Given the description of an element on the screen output the (x, y) to click on. 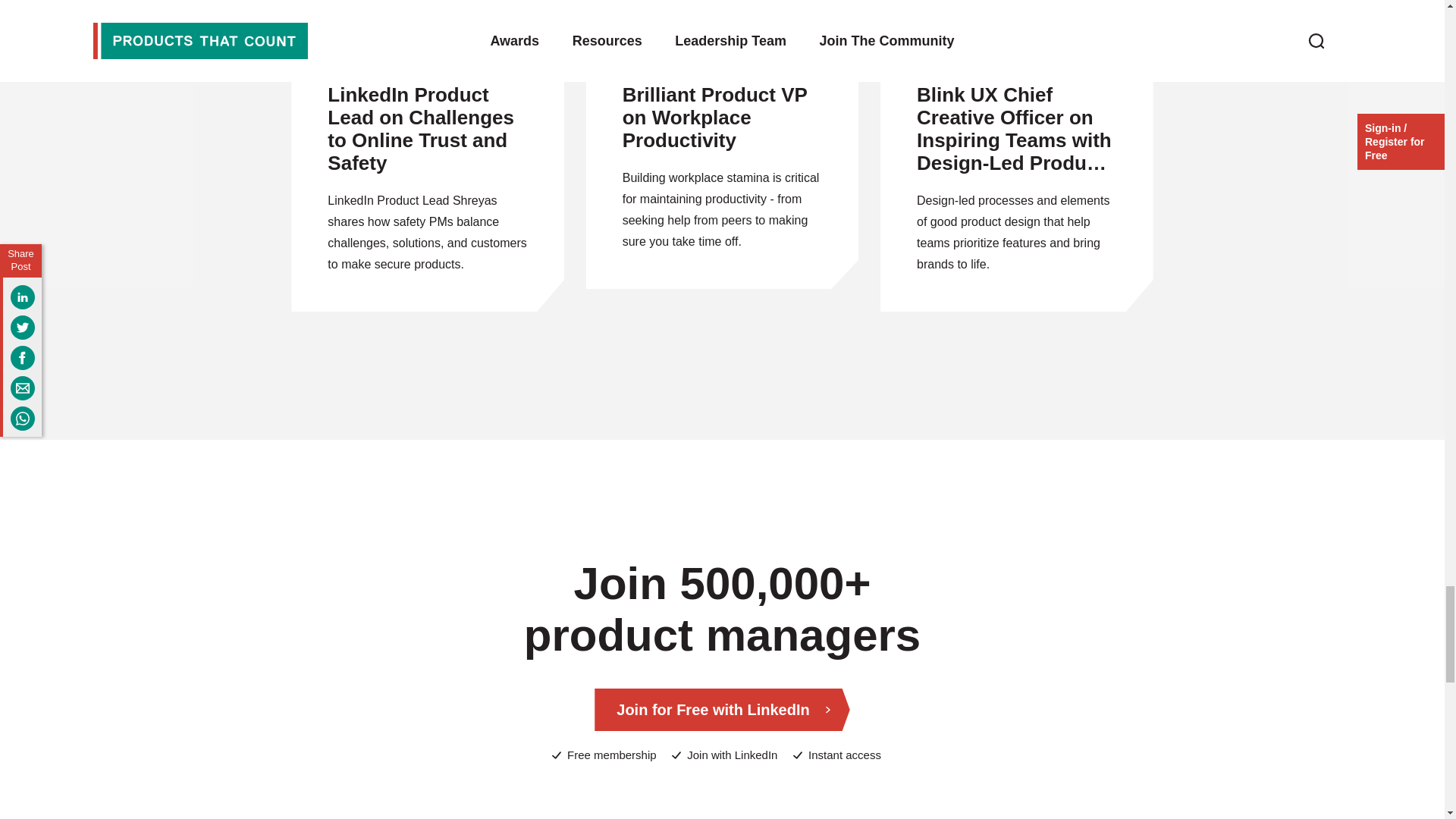
Join for Free with LinkedIn (721, 709)
Brilliant Product VP on Workplace Productivity (722, 118)
CYBERSECURITY (427, 29)
Join with LinkedIn (724, 755)
Instant access (836, 755)
LEADERSHIP (1016, 29)
PRODUCT DESIGN (1016, 47)
Free membership (603, 755)
PRODUCTIVITY (722, 29)
